Given the description of an element on the screen output the (x, y) to click on. 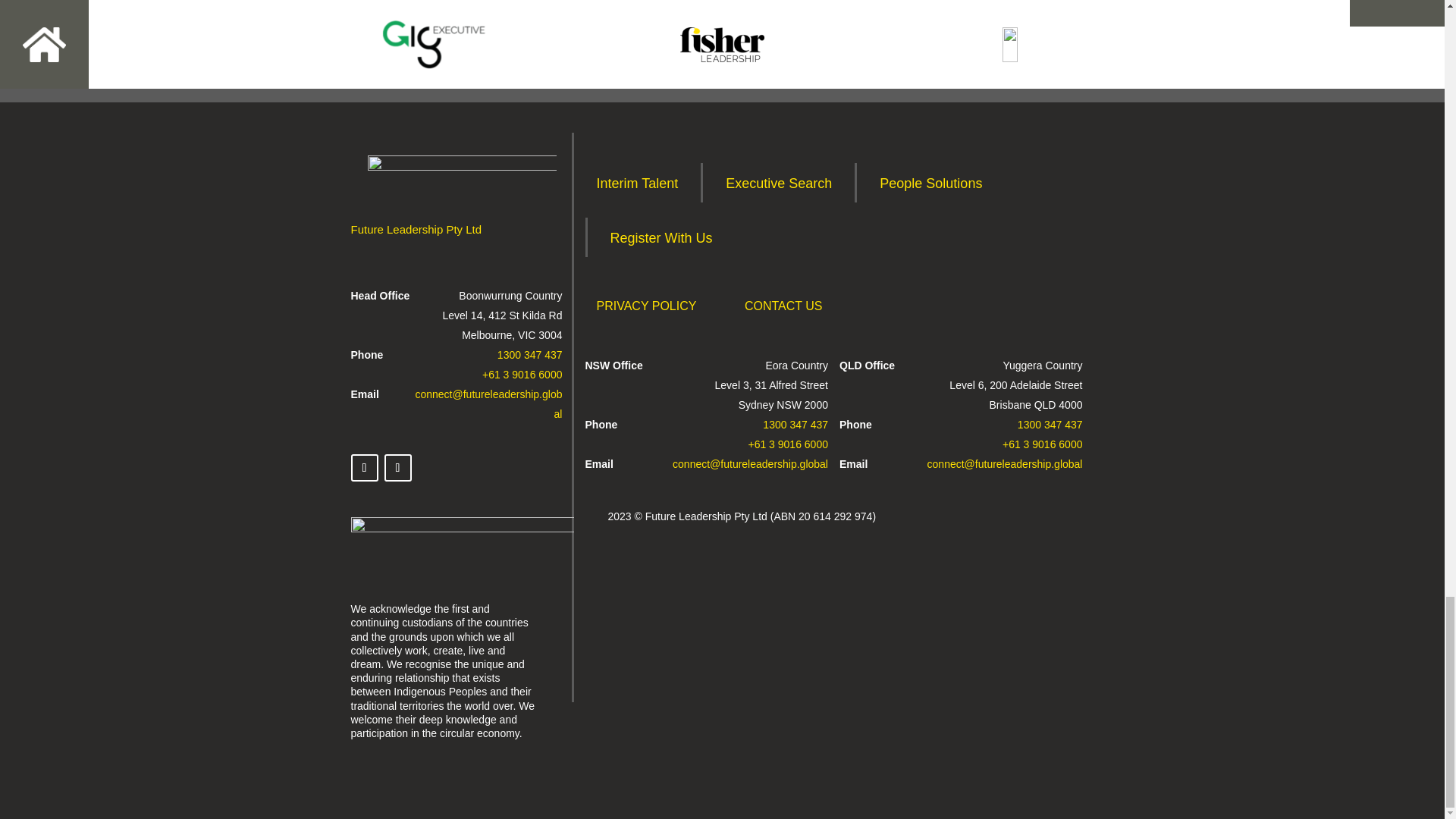
Executive Search (778, 182)
PRIVACY POLICY (646, 305)
1300 347 437 (795, 424)
Follow on X (363, 467)
1300 347 437 (529, 354)
Interim Talent (637, 182)
Register With Us (660, 237)
Follow on LinkedIn (397, 467)
Untitled design-3 (461, 528)
1300 347 437 (1050, 424)
